Given the description of an element on the screen output the (x, y) to click on. 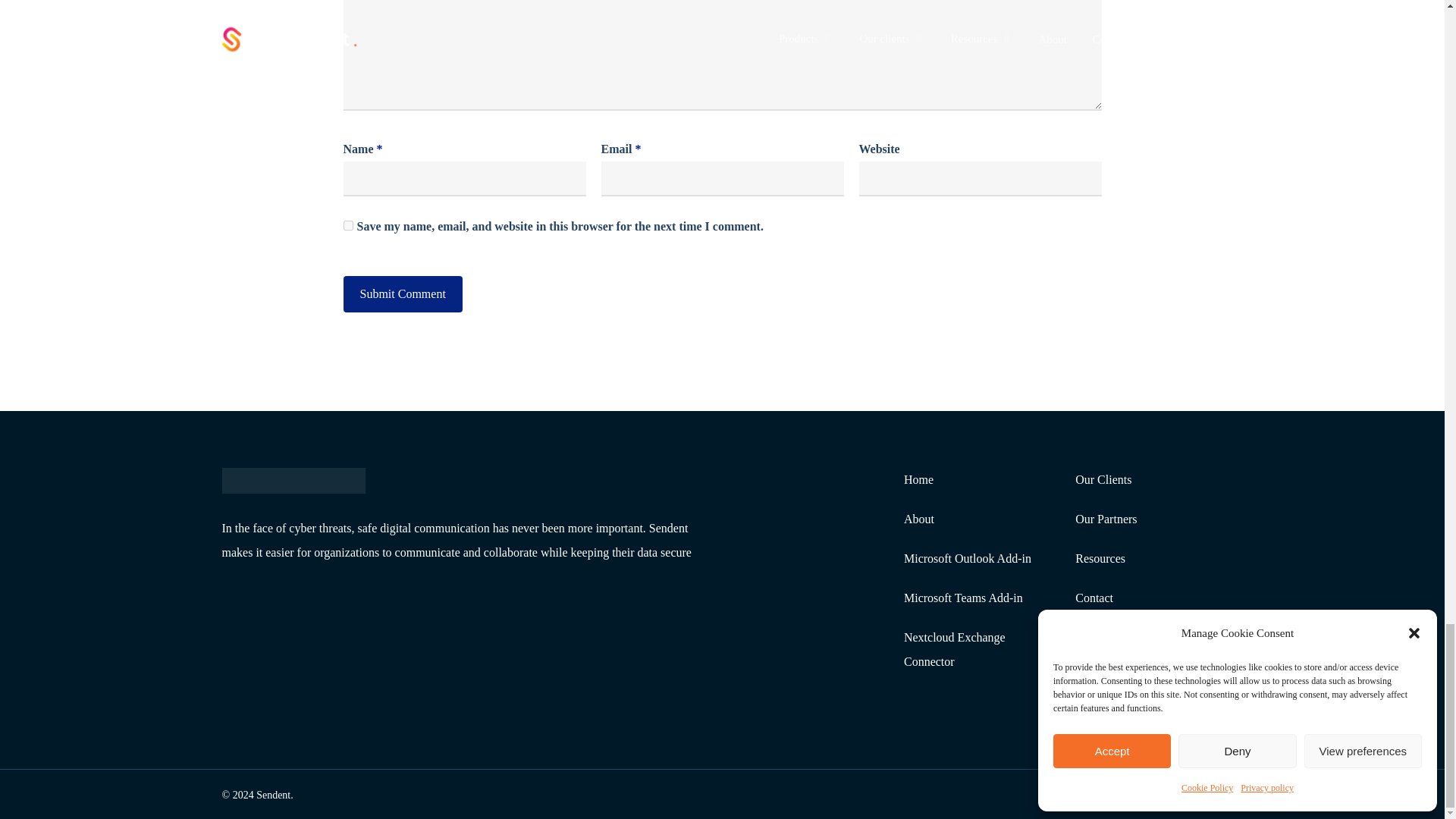
Submit Comment (401, 294)
yes (347, 225)
